Given the description of an element on the screen output the (x, y) to click on. 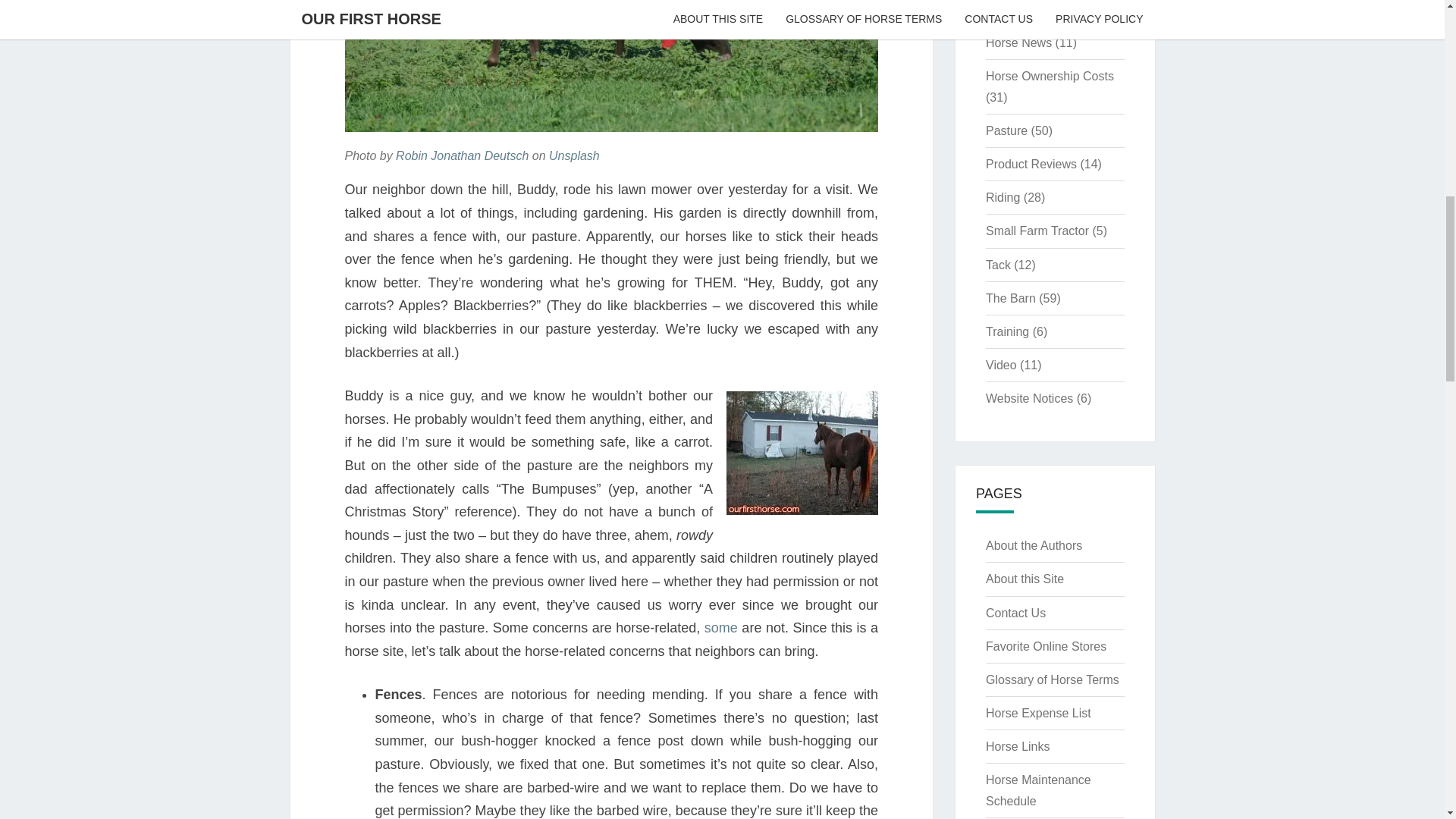
Unsplash (573, 155)
Robin Jonathan Deutsch (462, 155)
some (721, 627)
Horse Lifestyle (1025, 9)
Tree: Three; Chainsaws:0 (721, 627)
Horse News (1018, 42)
Horse Ownership Costs (1049, 75)
